Given the description of an element on the screen output the (x, y) to click on. 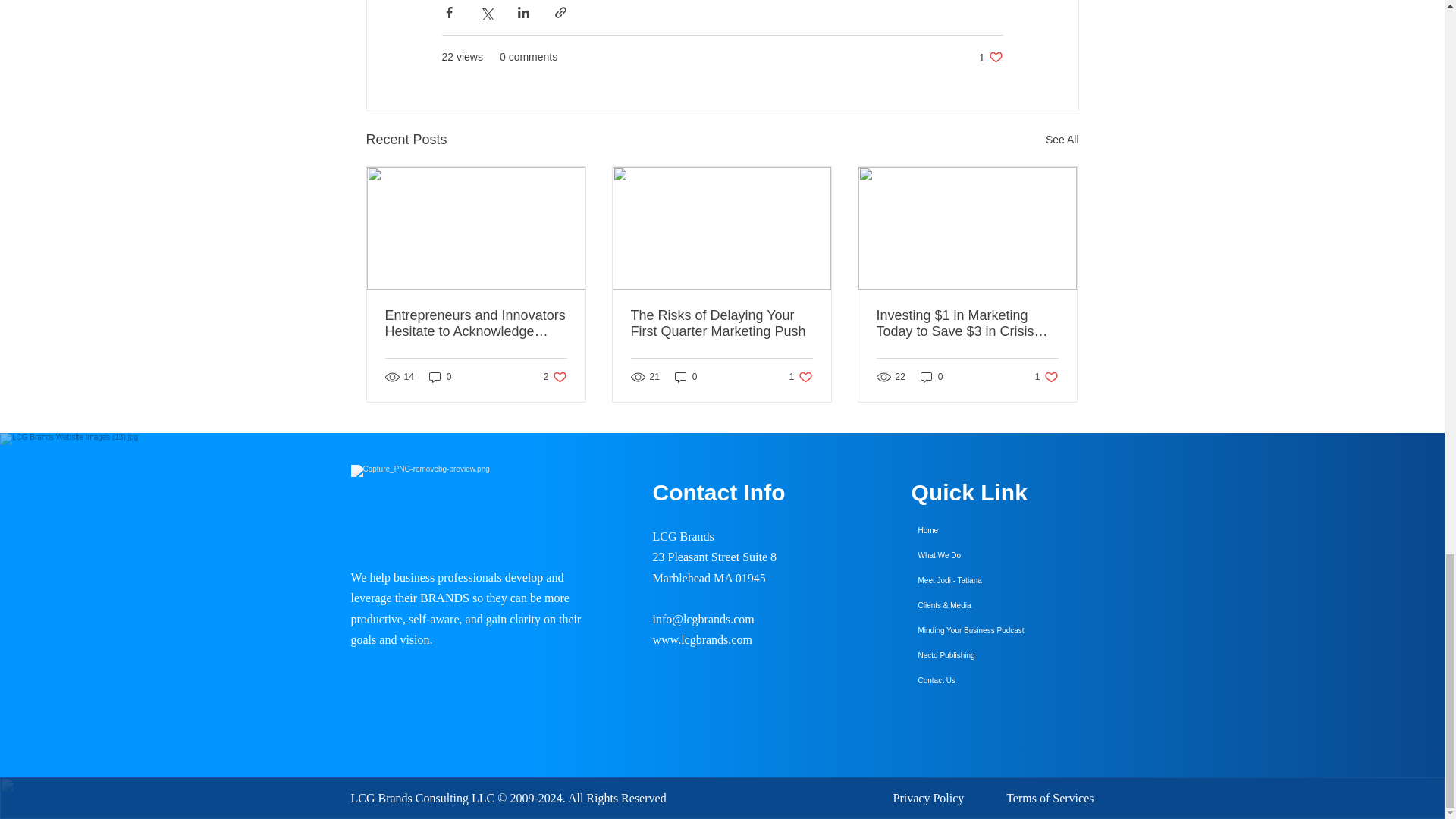
0 (555, 377)
The Risks of Delaying Your First Quarter Marketing Push (685, 377)
See All (721, 323)
0 (1061, 139)
0 (440, 377)
